Given the description of an element on the screen output the (x, y) to click on. 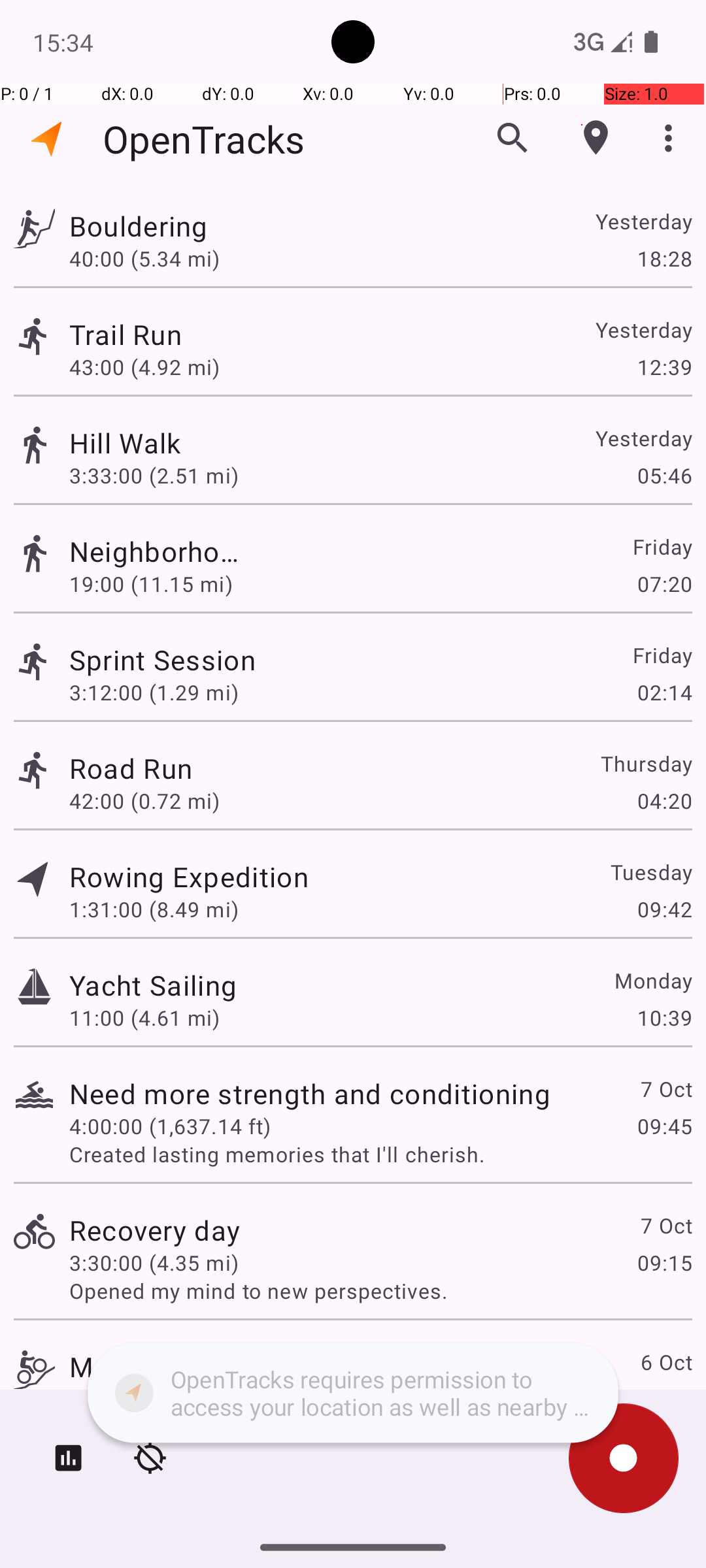
OpenTracks Element type: android.widget.TextView (203, 138)
Markers Element type: android.widget.Button (595, 137)
Record Element type: android.widget.ImageButton (623, 1458)
Track Element type: android.widget.ImageView (33, 227)
Bouldering Element type: android.widget.TextView (188, 225)
Yesterday Element type: android.widget.TextView (643, 221)
40:00 (5.34 mi) Element type: android.widget.TextView (153, 258)
18:28 Element type: android.widget.TextView (664, 258)
Trail Run Element type: android.widget.TextView (152, 333)
43:00 (4.92 mi) Element type: android.widget.TextView (144, 366)
12:39 Element type: android.widget.TextView (664, 366)
Hill Walk Element type: android.widget.TextView (309, 442)
3:33:00 (2.51 mi) Element type: android.widget.TextView (169, 475)
05:46 Element type: android.widget.TextView (664, 475)
Neighborhood Walk Element type: android.widget.TextView (154, 550)
Friday Element type: android.widget.TextView (661, 546)
19:00 (11.15 mi) Element type: android.widget.TextView (153, 583)
07:20 Element type: android.widget.TextView (664, 583)
Sprint Session Element type: android.widget.TextView (193, 659)
3:12:00 (1.29 mi) Element type: android.widget.TextView (153, 692)
02:14 Element type: android.widget.TextView (664, 692)
Road Run Element type: android.widget.TextView (130, 767)
Thursday Element type: android.widget.TextView (645, 763)
42:00 (0.72 mi) Element type: android.widget.TextView (144, 800)
04:20 Element type: android.widget.TextView (664, 800)
Rowing Expedition Element type: android.widget.TextView (188, 876)
Tuesday Element type: android.widget.TextView (650, 871)
1:31:00 (8.49 mi) Element type: android.widget.TextView (153, 909)
09:42 Element type: android.widget.TextView (664, 909)
Yacht Sailing Element type: android.widget.TextView (152, 984)
Monday Element type: android.widget.TextView (652, 980)
11:00 (4.61 mi) Element type: android.widget.TextView (144, 1017)
10:39 Element type: android.widget.TextView (664, 1017)
Need more strength and conditioning Element type: android.widget.TextView (309, 1092)
7 Oct Element type: android.widget.TextView (665, 1088)
4:00:00 (1,637.14 ft) Element type: android.widget.TextView (169, 1125)
09:45 Element type: android.widget.TextView (664, 1125)
Created lasting memories that I'll cherish. Element type: android.widget.TextView (380, 1154)
Recovery day Element type: android.widget.TextView (154, 1229)
3:30:00 (4.35 mi) Element type: android.widget.TextView (153, 1262)
09:15 Element type: android.widget.TextView (664, 1262)
Opened my mind to new perspectives. Element type: android.widget.TextView (380, 1290)
Mountain Bike Ride Element type: android.widget.TextView (193, 1366)
6 Oct Element type: android.widget.TextView (665, 1361)
3:07:00 (0.64 mi) Element type: android.widget.TextView (153, 1399)
17:04 Element type: android.widget.TextView (664, 1399)
